Given the description of an element on the screen output the (x, y) to click on. 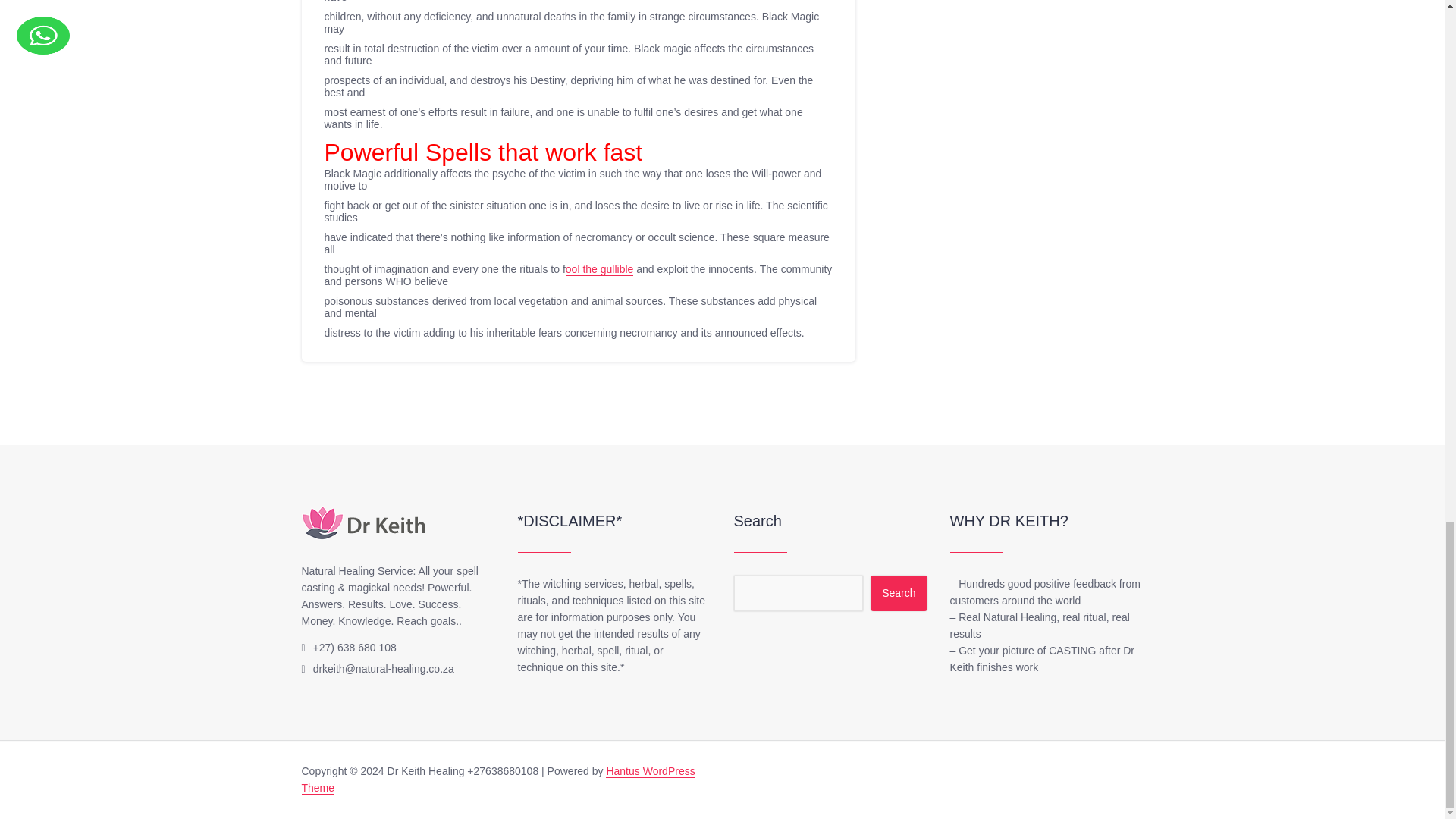
Search (898, 592)
ool the gullible (599, 269)
Search (898, 592)
Search (898, 592)
Hantus WordPress Theme (498, 779)
